Given the description of an element on the screen output the (x, y) to click on. 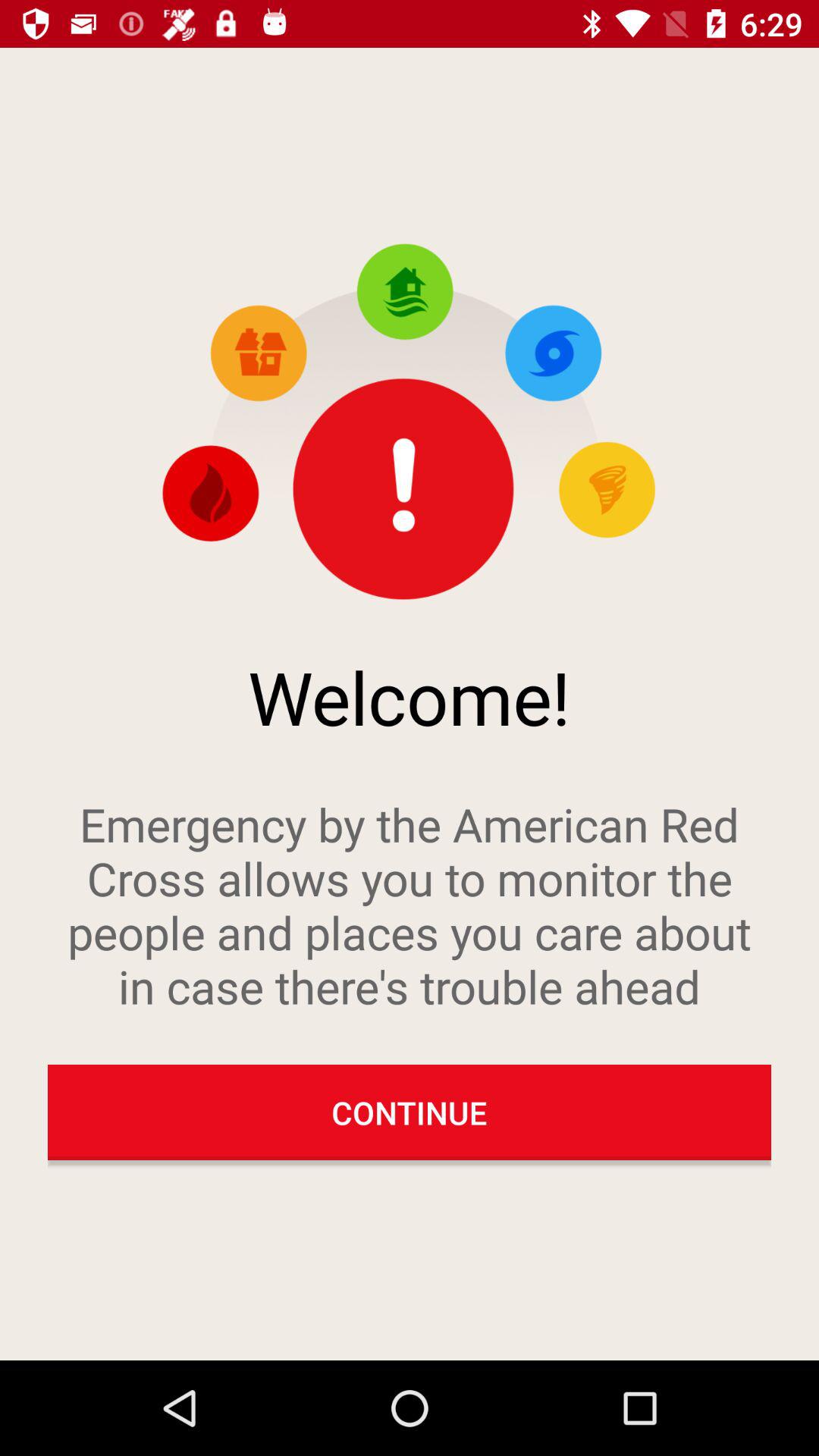
swipe until the continue button (409, 1112)
